Given the description of an element on the screen output the (x, y) to click on. 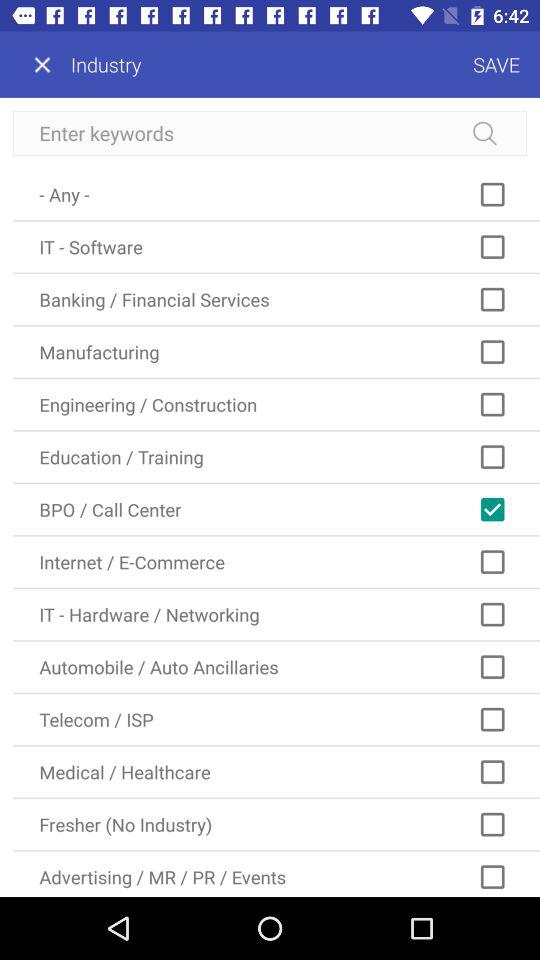
search keyword (269, 133)
